Given the description of an element on the screen output the (x, y) to click on. 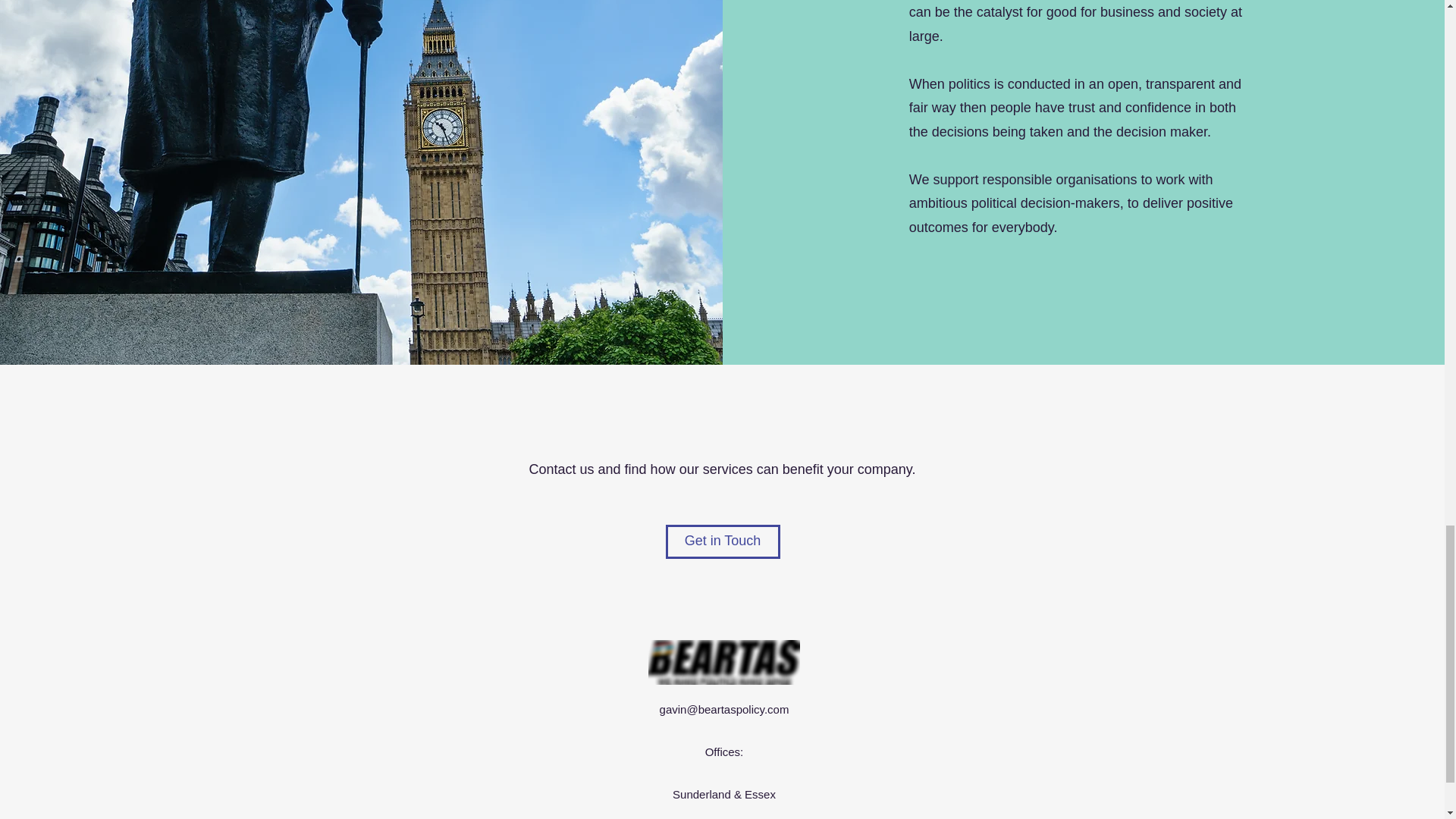
Beartas Logo slogan Black.png (723, 661)
Get in Touch (722, 541)
